Given the description of an element on the screen output the (x, y) to click on. 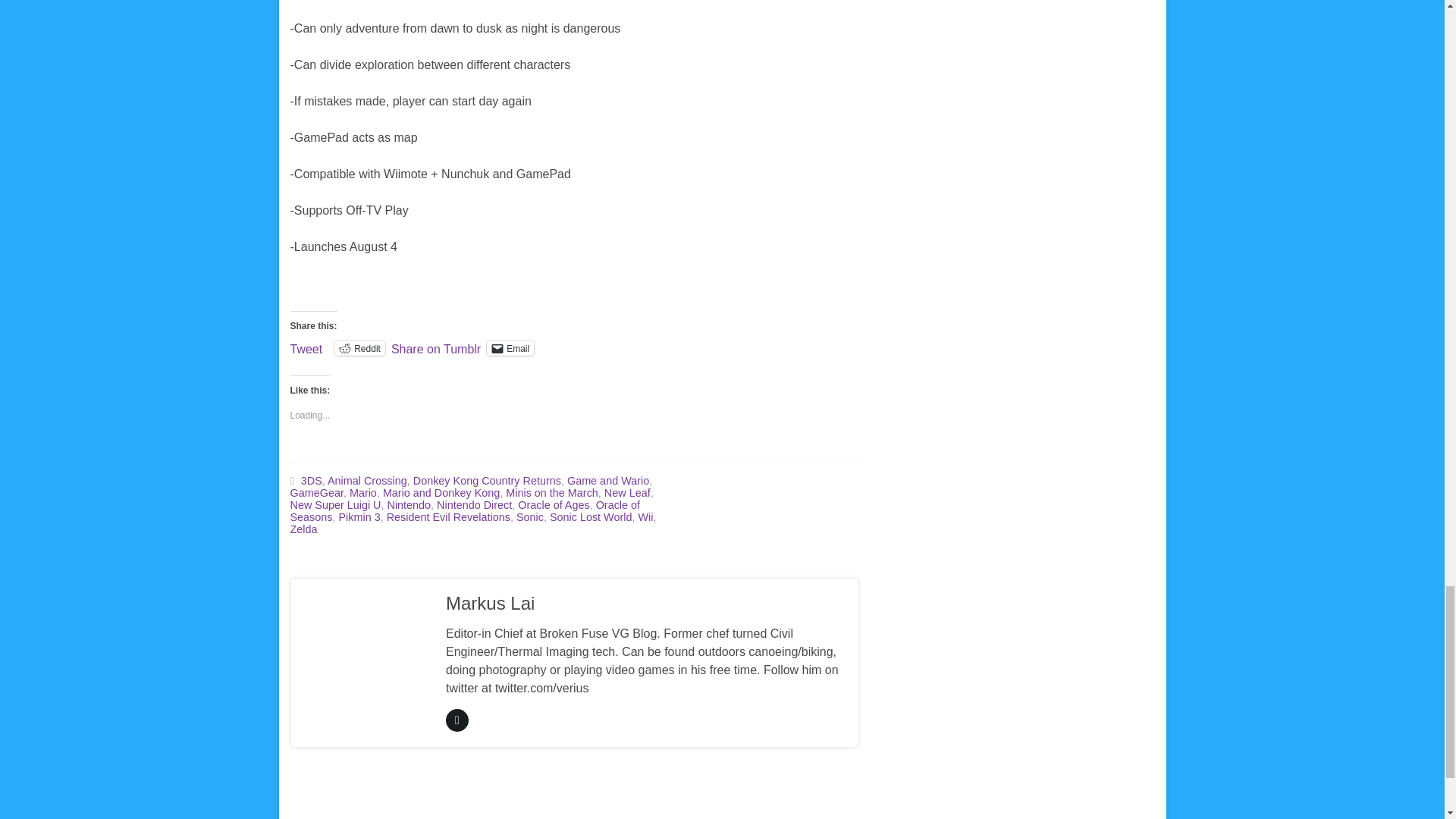
Share on Tumblr (435, 346)
Click to share on Reddit (359, 347)
Click to email a link to a friend (510, 347)
